Given the description of an element on the screen output the (x, y) to click on. 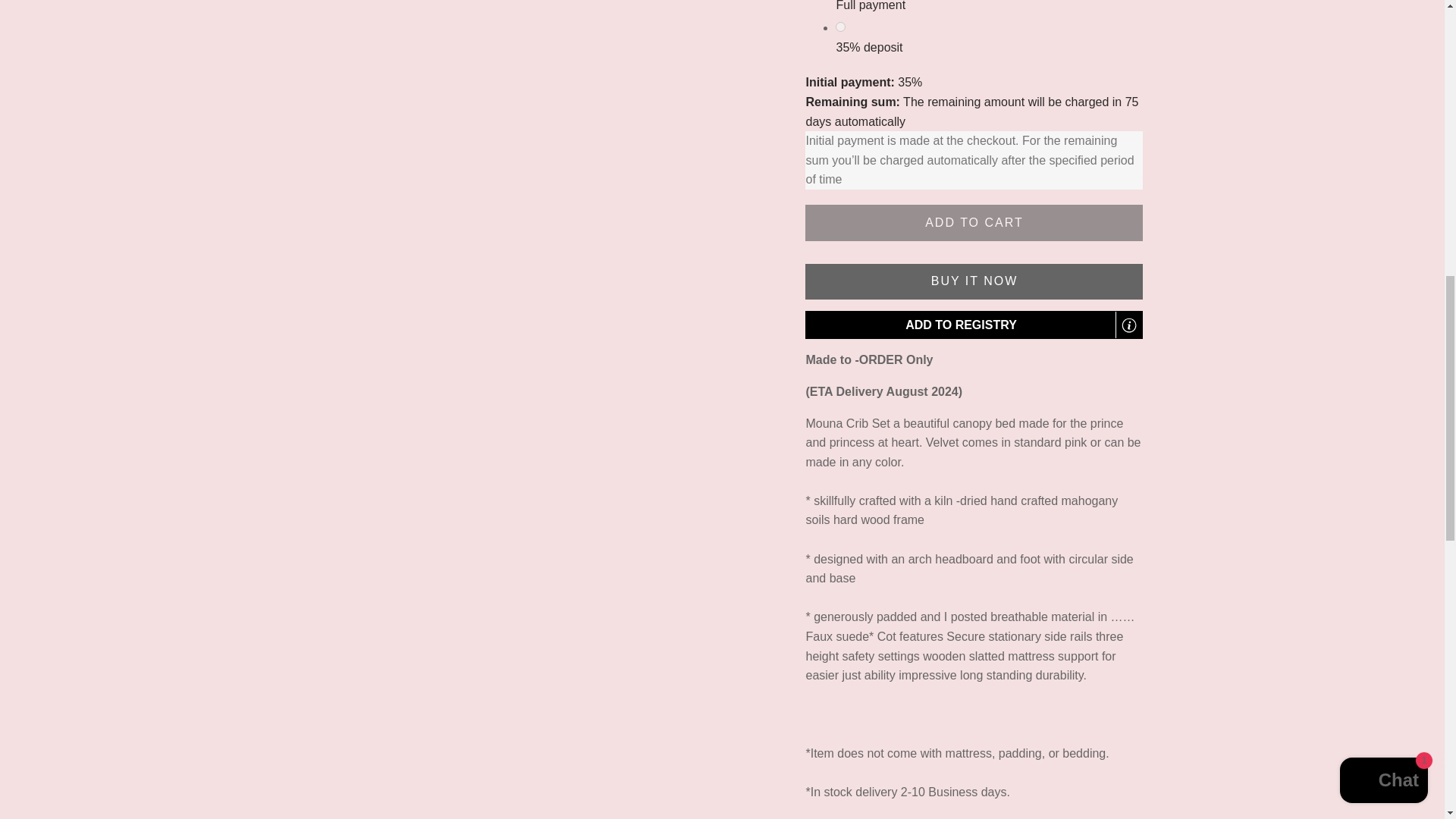
1 (840, 26)
